Given the description of an element on the screen output the (x, y) to click on. 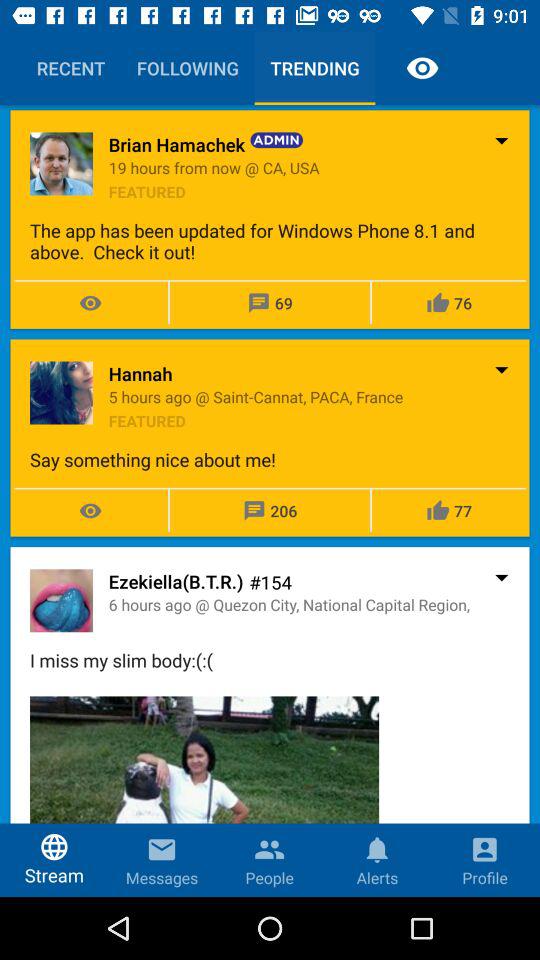
open the item below the i miss my icon (204, 796)
